Given the description of an element on the screen output the (x, y) to click on. 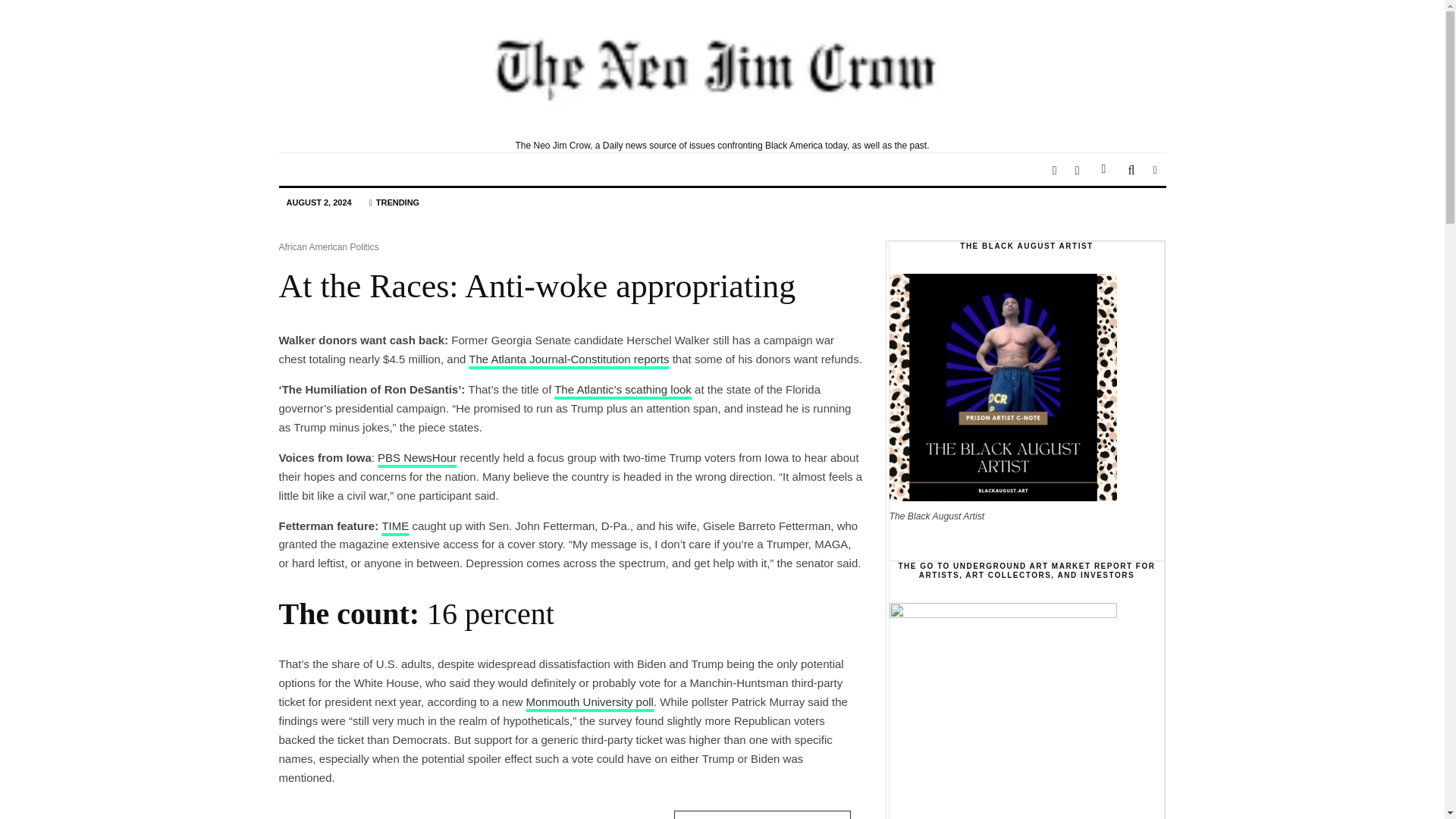
The Atlanta Journal-Constitution reports (568, 358)
Email Address (761, 814)
TRENDING (394, 202)
PBS NewsHour (417, 457)
Monmouth University poll (589, 701)
TIME (395, 525)
African American Politics (328, 247)
